Given the description of an element on the screen output the (x, y) to click on. 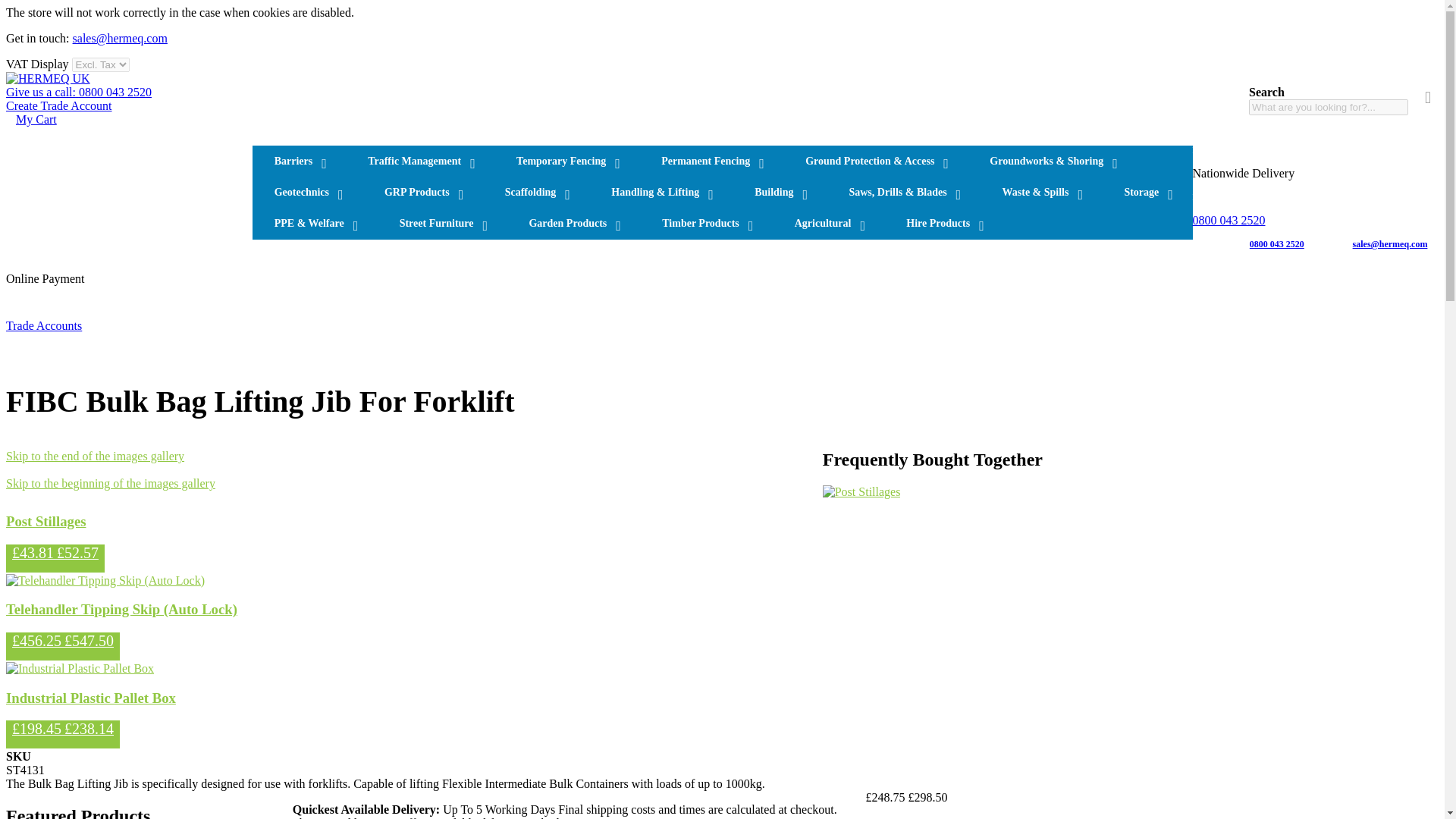
HERMEQ UK (47, 78)
Create Trade Account (58, 105)
Traffic Management (420, 160)
My Cart (36, 119)
Search (1428, 97)
Search (1428, 97)
Give us a call: 0800 043 2520 (78, 91)
HERMEQ UK (47, 78)
Barriers (298, 160)
